Given the description of an element on the screen output the (x, y) to click on. 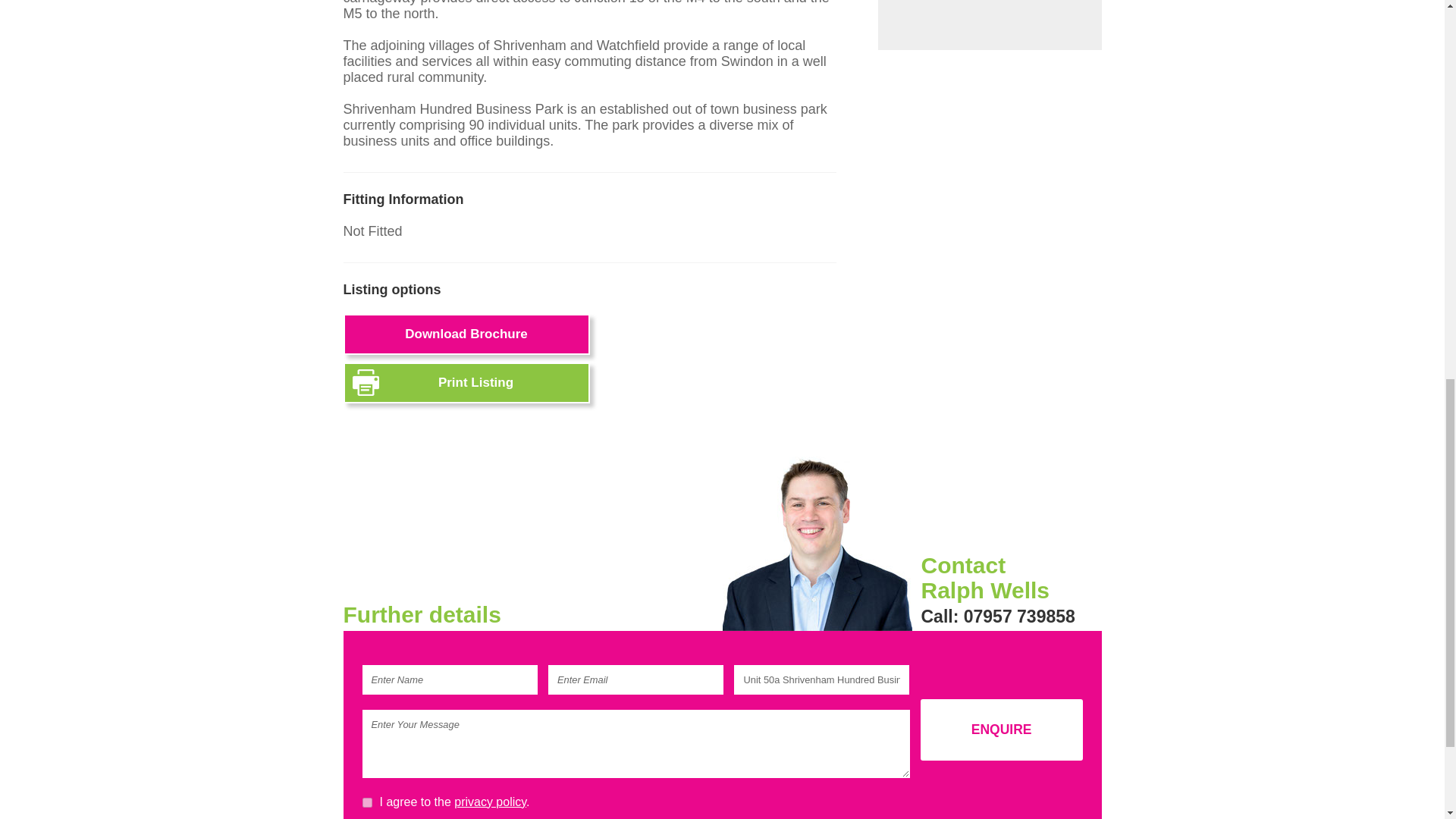
Enquire (1001, 729)
Download Brochure (465, 333)
1 (367, 802)
Unit 50a Shrivenham Hundred Business Park, Swindon (820, 679)
Ralph Wells Enquiry (816, 543)
